Given the description of an element on the screen output the (x, y) to click on. 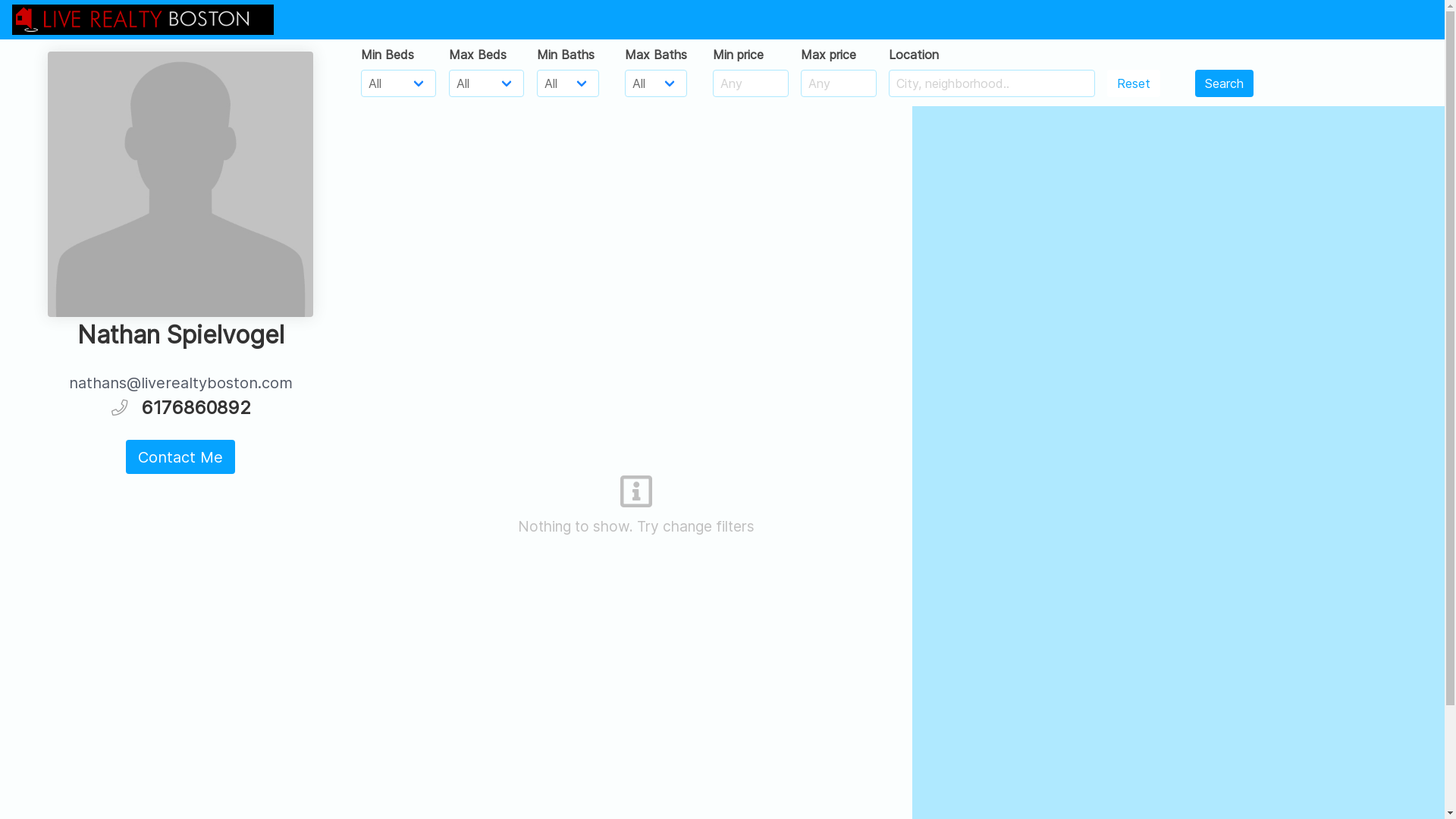
Contact Me Element type: text (180, 456)
Search Element type: text (1224, 83)
Reset Element type: text (1133, 83)
